Given the description of an element on the screen output the (x, y) to click on. 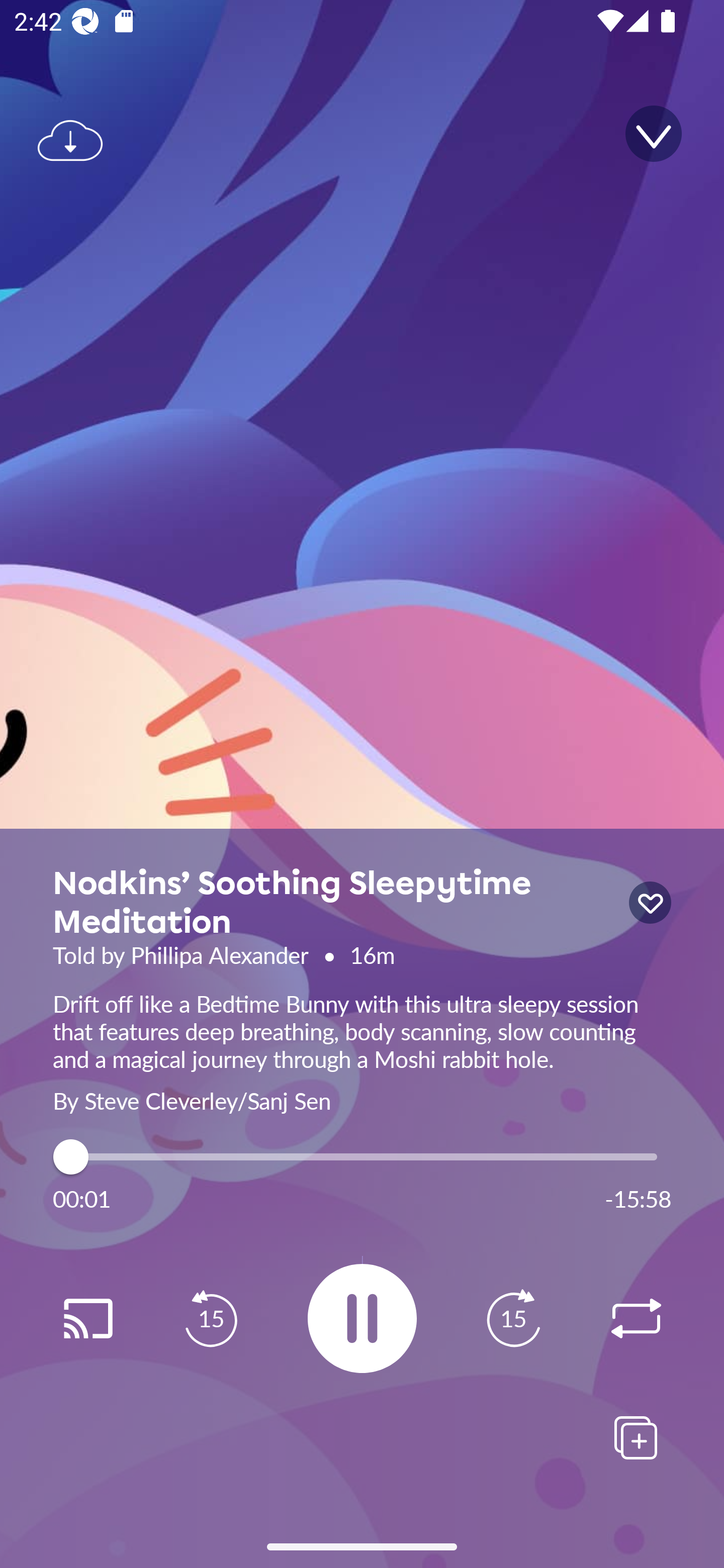
lock icon (650, 902)
0.0010635416 Pause (361, 1317)
Replay (87, 1318)
Replay 15 (210, 1318)
Replay 15 (513, 1318)
Replay (635, 1318)
Add To Playlists (635, 1437)
